Given the description of an element on the screen output the (x, y) to click on. 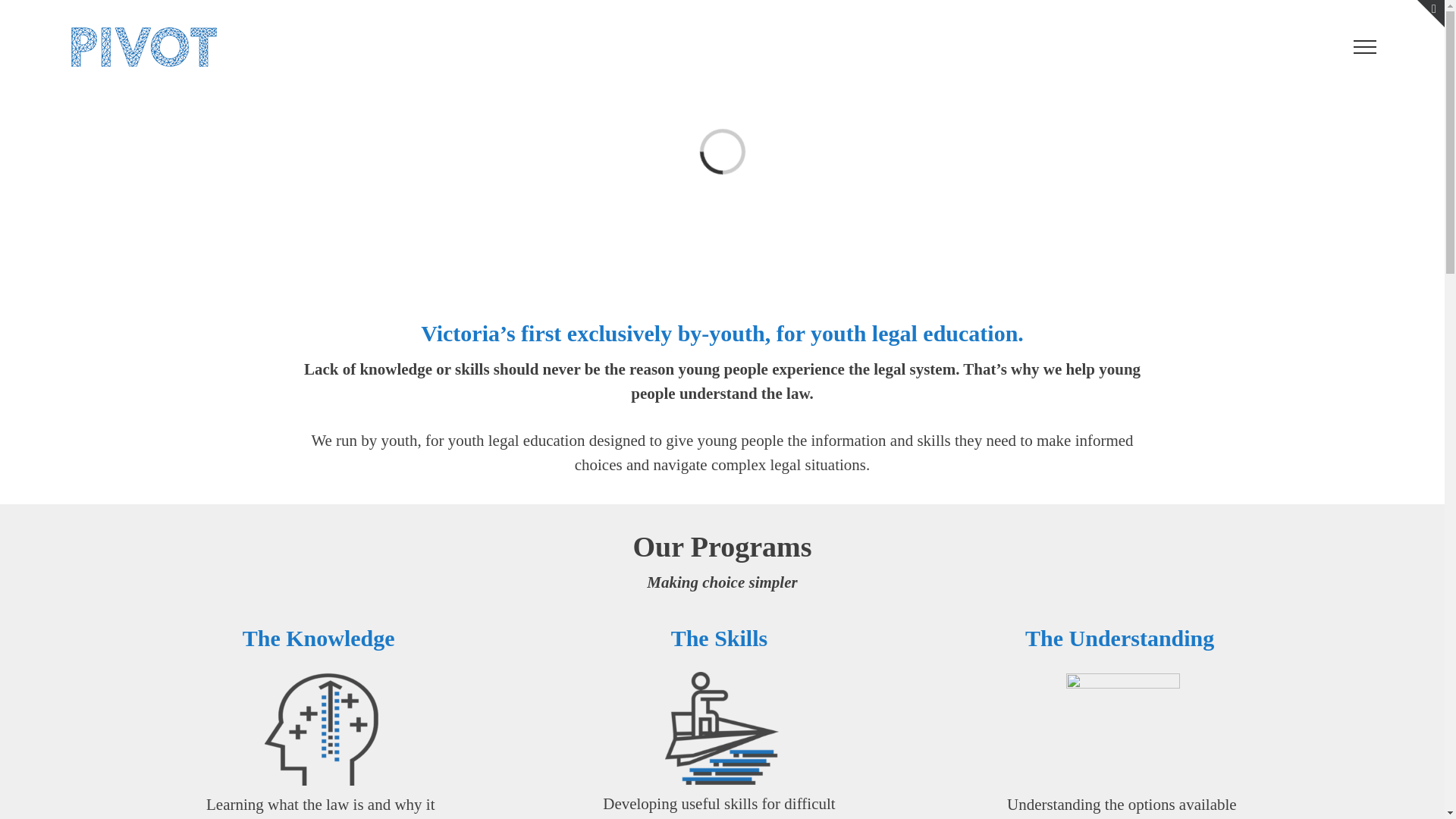
013-paper-plane Element type: hover (721, 727)
015-knowledge Element type: hover (321, 728)
research-3 Element type: hover (1122, 728)
Toggle Sliding Bar Area Element type: text (1430, 13)
